Given the description of an element on the screen output the (x, y) to click on. 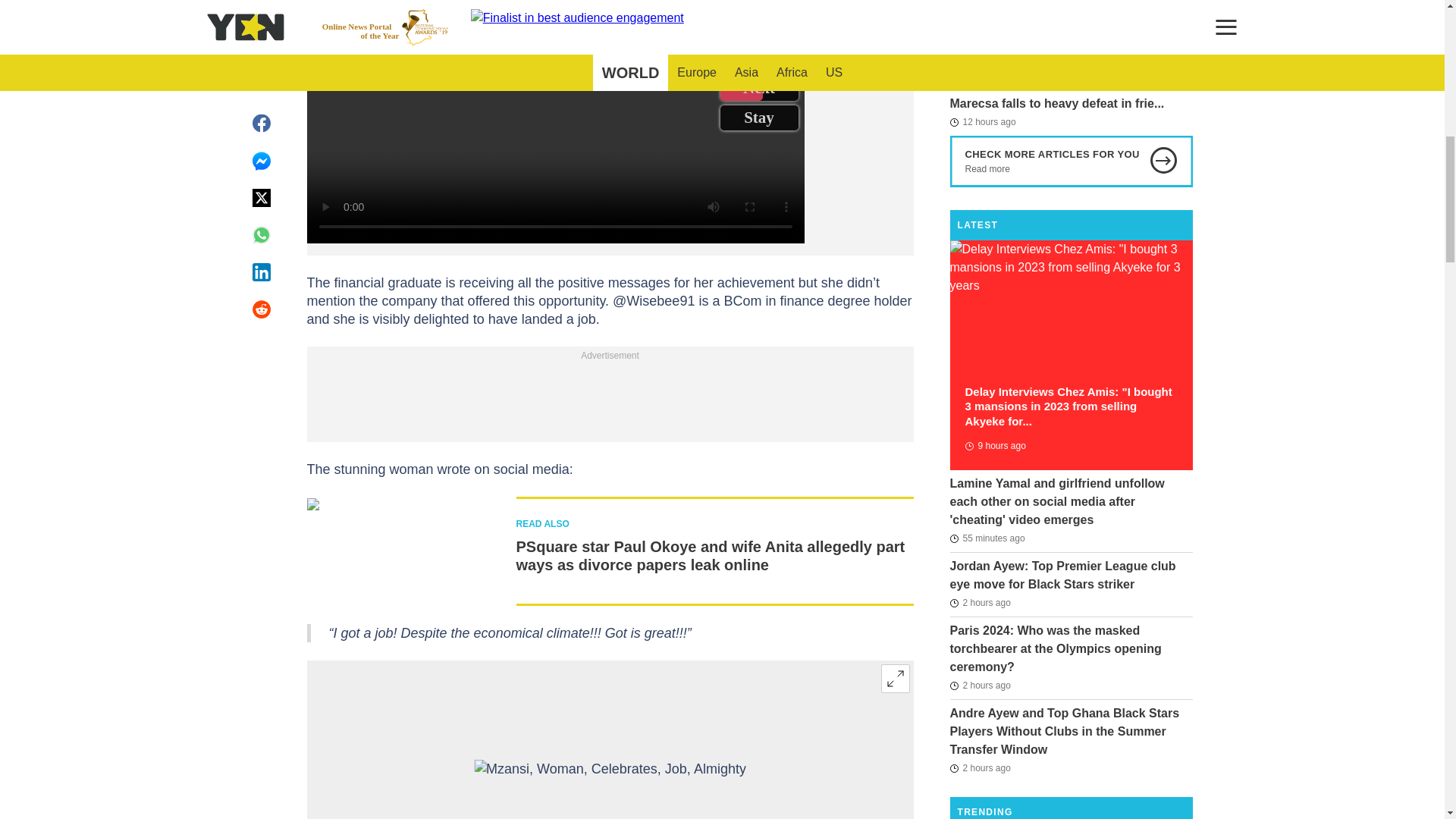
3rd party ad content (608, 398)
2024-07-28T17:00:40Z (979, 602)
2024-07-28T18:12:08Z (987, 538)
Expand image (895, 678)
2024-07-28T09:08:03Z (994, 445)
Mzansi, Woman, Celebrates, Job, Almighty (609, 789)
